Given the description of an element on the screen output the (x, y) to click on. 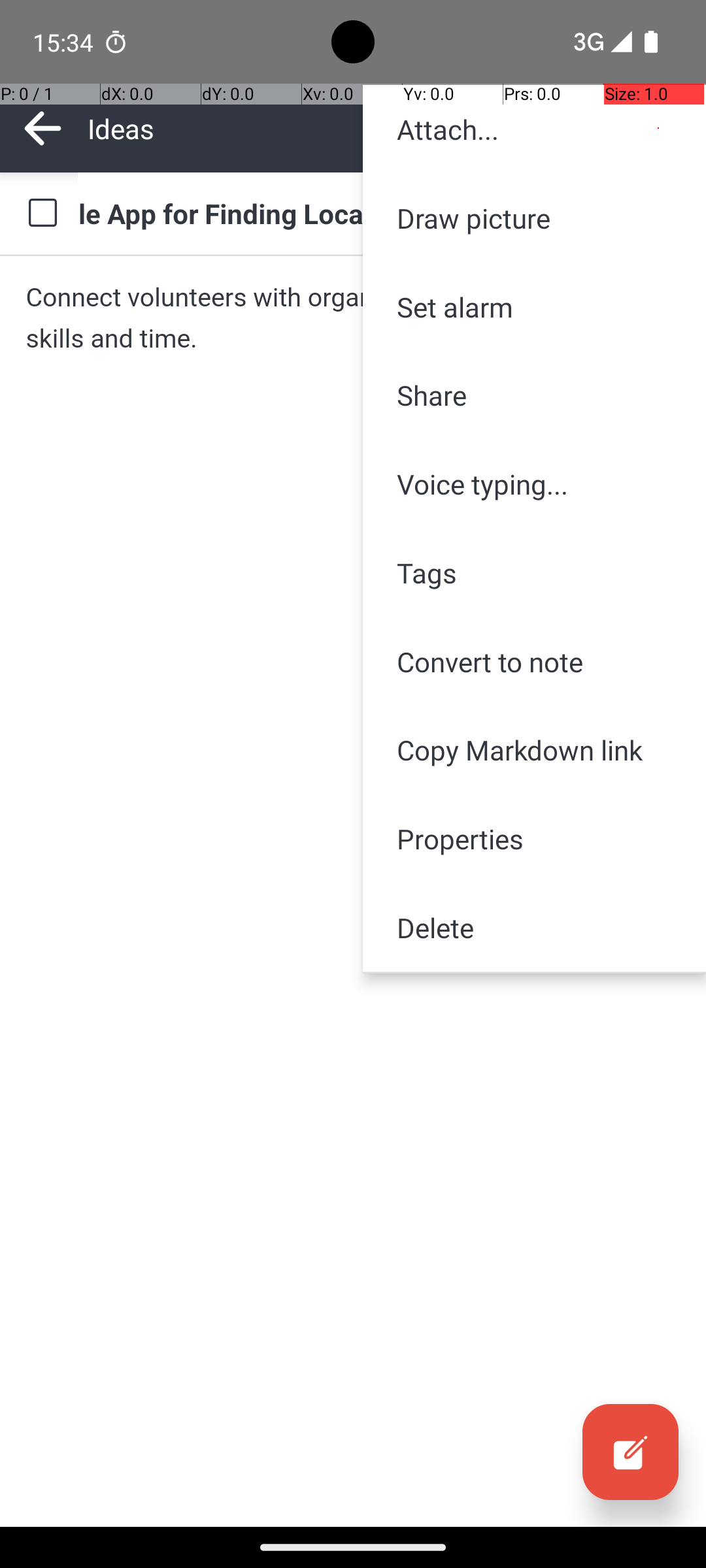
Connect volunteers with organizations in need of their skills and time. Element type: android.widget.TextView (352, 317)
